Given the description of an element on the screen output the (x, y) to click on. 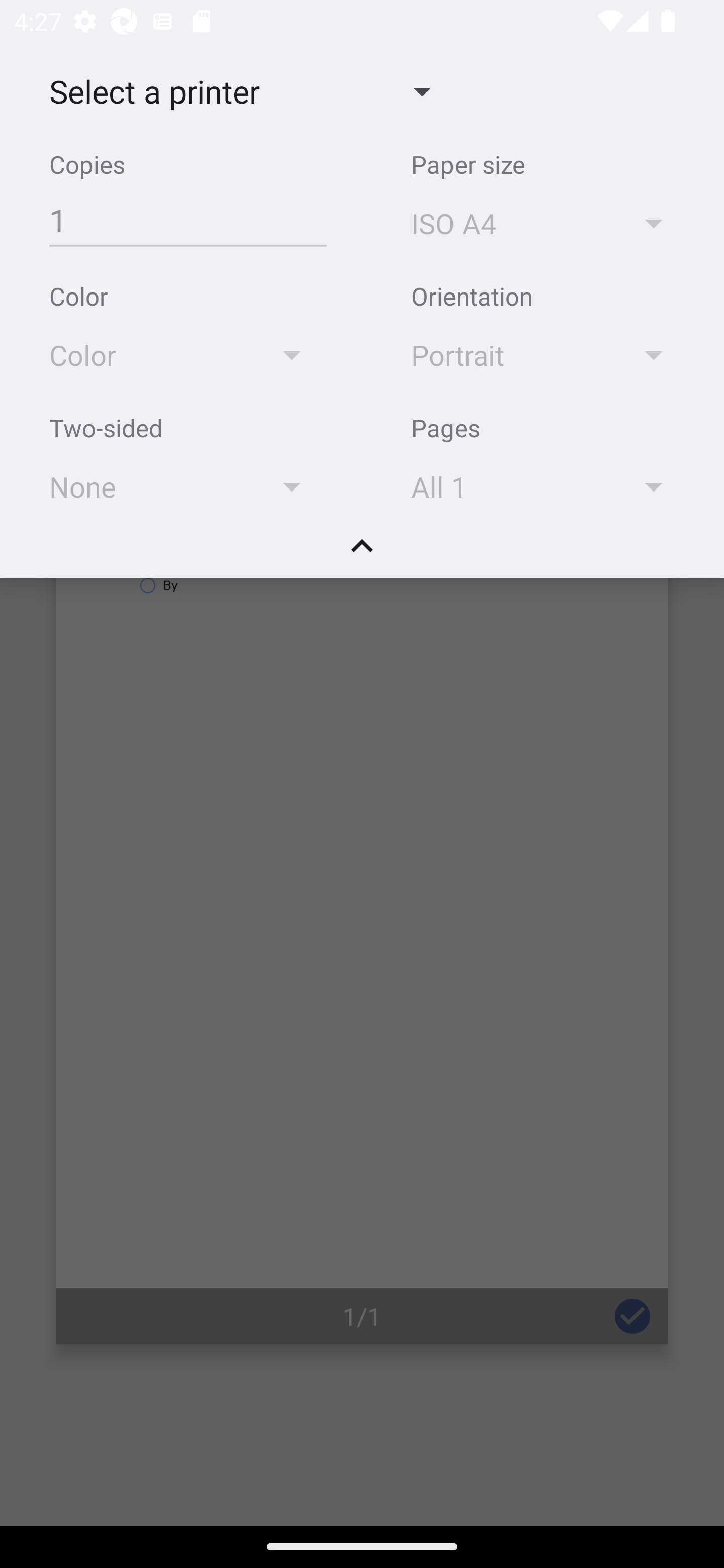
Select a printer (238, 90)
1 (187, 220)
ISO A4 (546, 222)
Color (184, 354)
Portrait (546, 354)
None (184, 485)
All 1 (546, 485)
Collapse handle (362, 553)
